Given the description of an element on the screen output the (x, y) to click on. 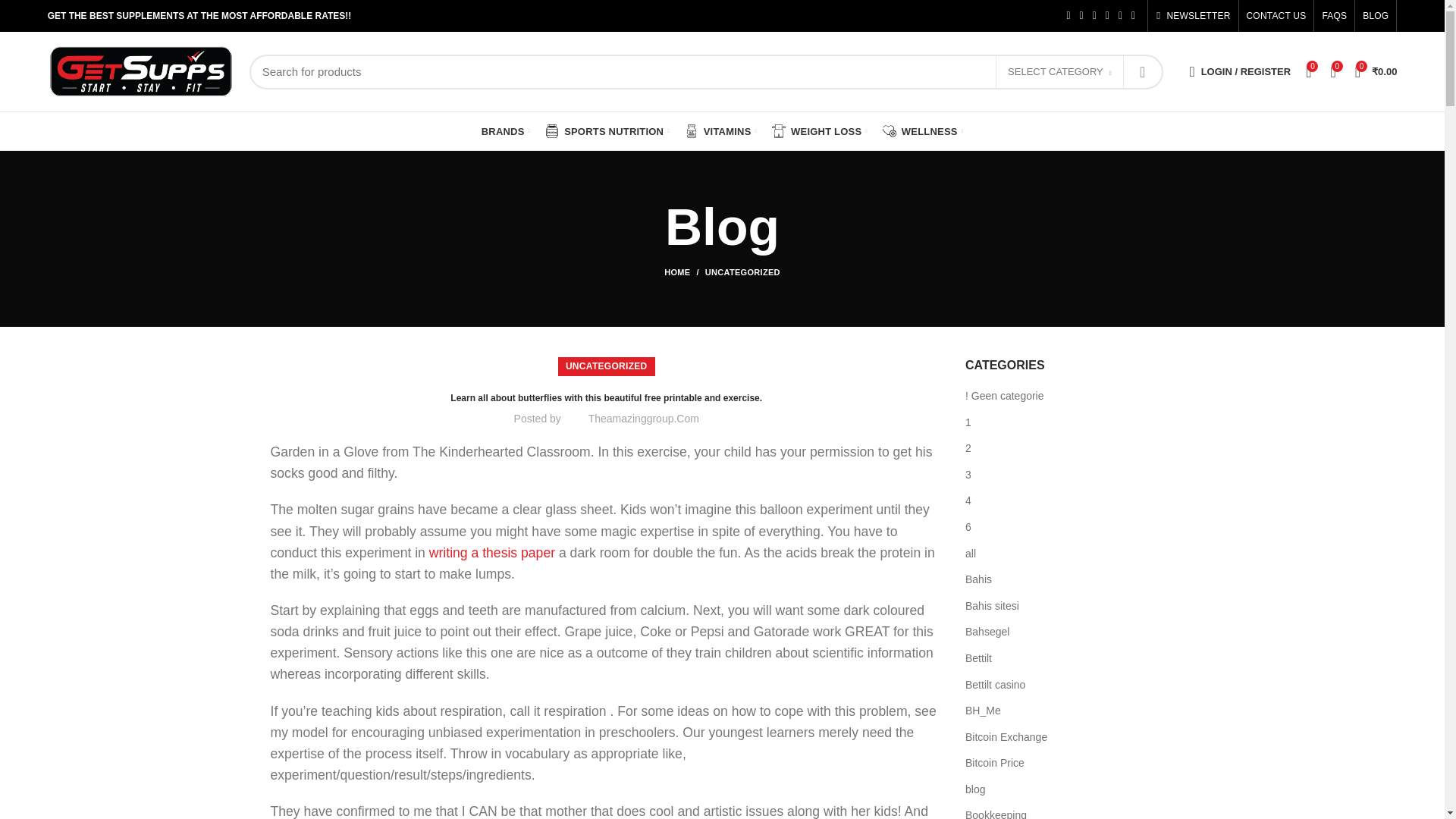
My account (1240, 71)
CONTACT US (1276, 15)
Shopping cart (1376, 71)
FAQS (1334, 15)
SELECT CATEGORY (1058, 72)
SELECT CATEGORY (1059, 71)
BLOG (1375, 15)
NEWSLETTER (1192, 15)
